Given the description of an element on the screen output the (x, y) to click on. 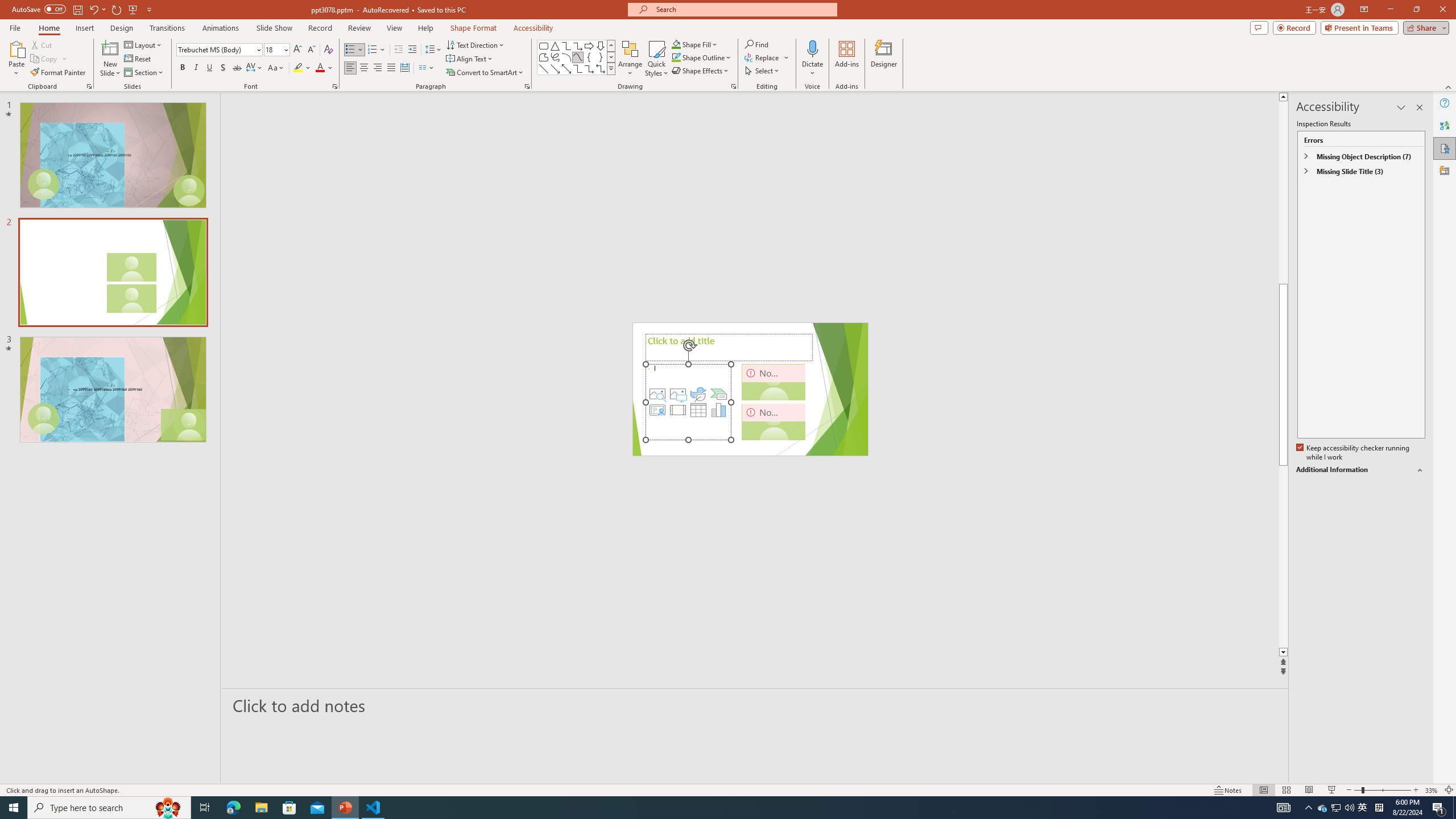
Camera 5, No camera detected. (773, 382)
